Given the description of an element on the screen output the (x, y) to click on. 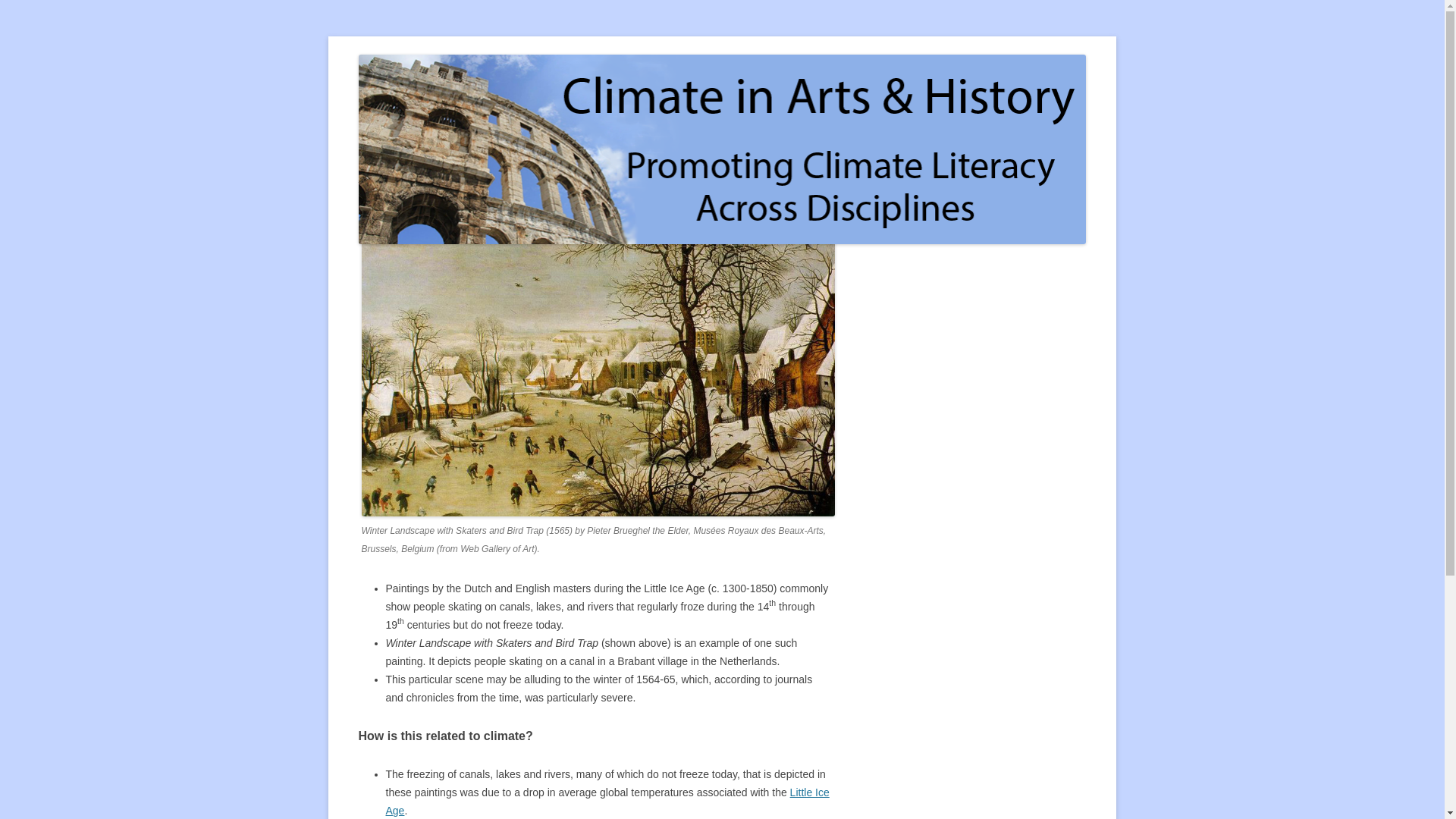
INDIGENOUS PERSPECTIVES (872, 90)
Search (1033, 190)
LANGUAGES (999, 90)
Little Ice Age (606, 801)
FILM AND MEDIA (586, 90)
LITERATURE (385, 123)
ABOUT US (441, 90)
Climate in Arts and History (484, 72)
Search (1033, 190)
